Given the description of an element on the screen output the (x, y) to click on. 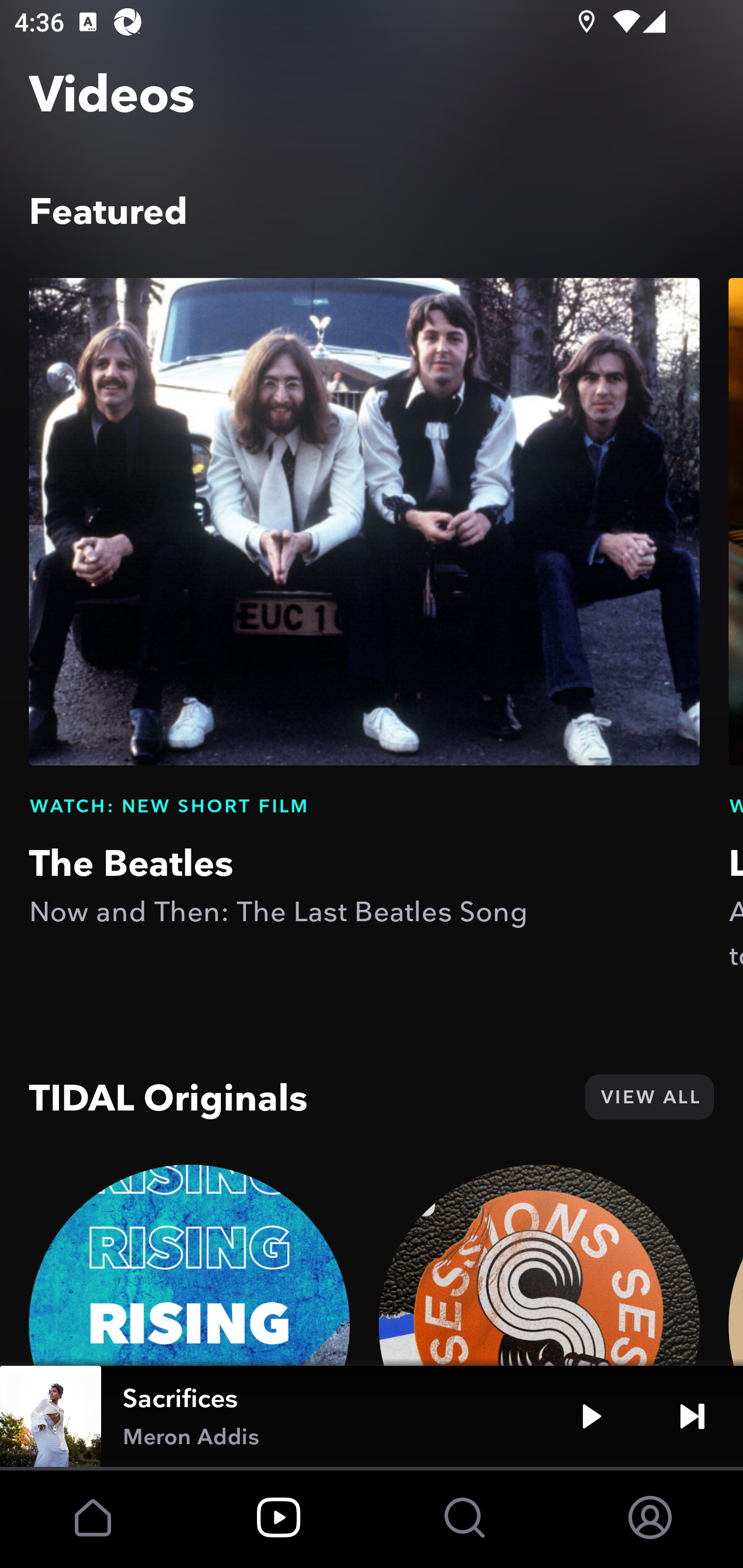
VIEW ALL (649, 1096)
Sacrifices Meron Addis Play (371, 1416)
Play (590, 1416)
